Given the description of an element on the screen output the (x, y) to click on. 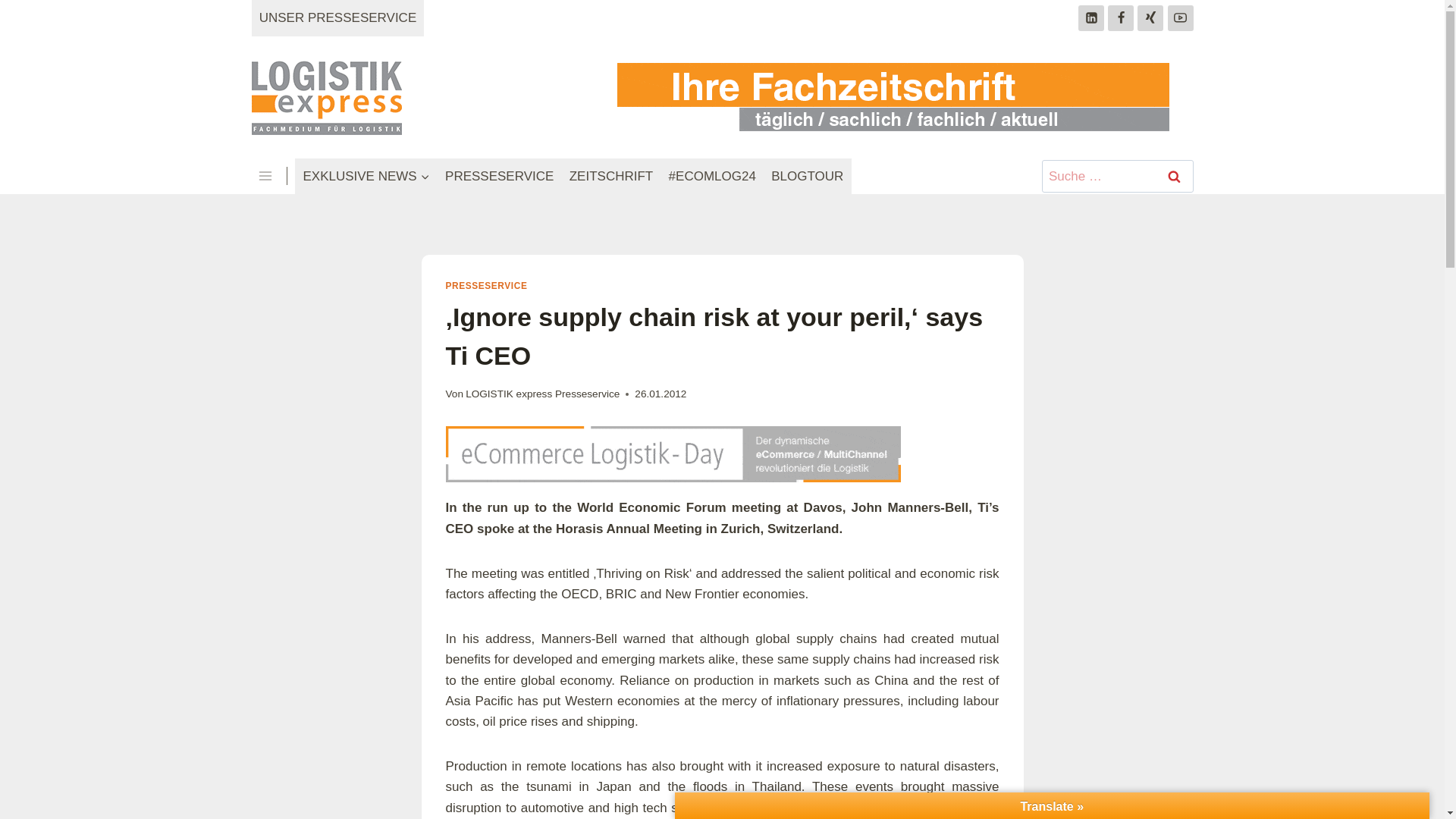
UNSER PRESSESERVICE (338, 18)
PRESSESERVICE (500, 176)
PRESSESERVICE (486, 285)
ZEITSCHRIFT (611, 176)
LOGISTIK express Presseservice (542, 393)
Suche (1174, 175)
Suche (1174, 175)
BLOGTOUR (806, 176)
EXKLUSIVE NEWS (366, 176)
Suche (1174, 175)
